Given the description of an element on the screen output the (x, y) to click on. 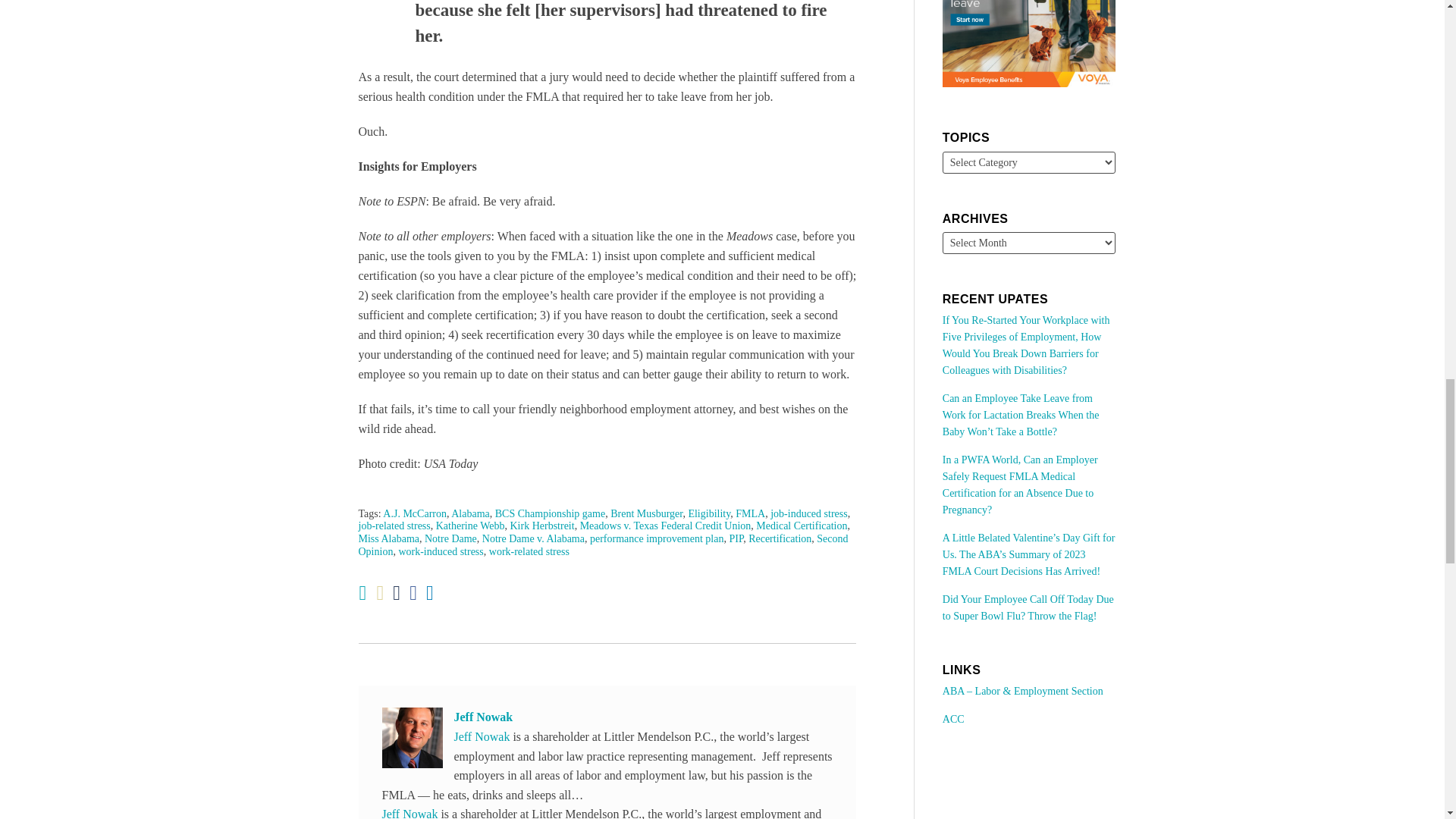
Eligibility (708, 513)
Brent Musburger (646, 513)
Alabama (470, 513)
job-related stress (393, 525)
FMLA (750, 513)
Kirk Herbstreit (541, 525)
Medical Certification (801, 525)
Miss Alabama (388, 538)
A.J. McCarron (414, 513)
Katherine Webb (470, 525)
BCS Championship game (550, 513)
job-induced stress (808, 513)
Meadows v. Texas Federal Credit Union (665, 525)
